Given the description of an element on the screen output the (x, y) to click on. 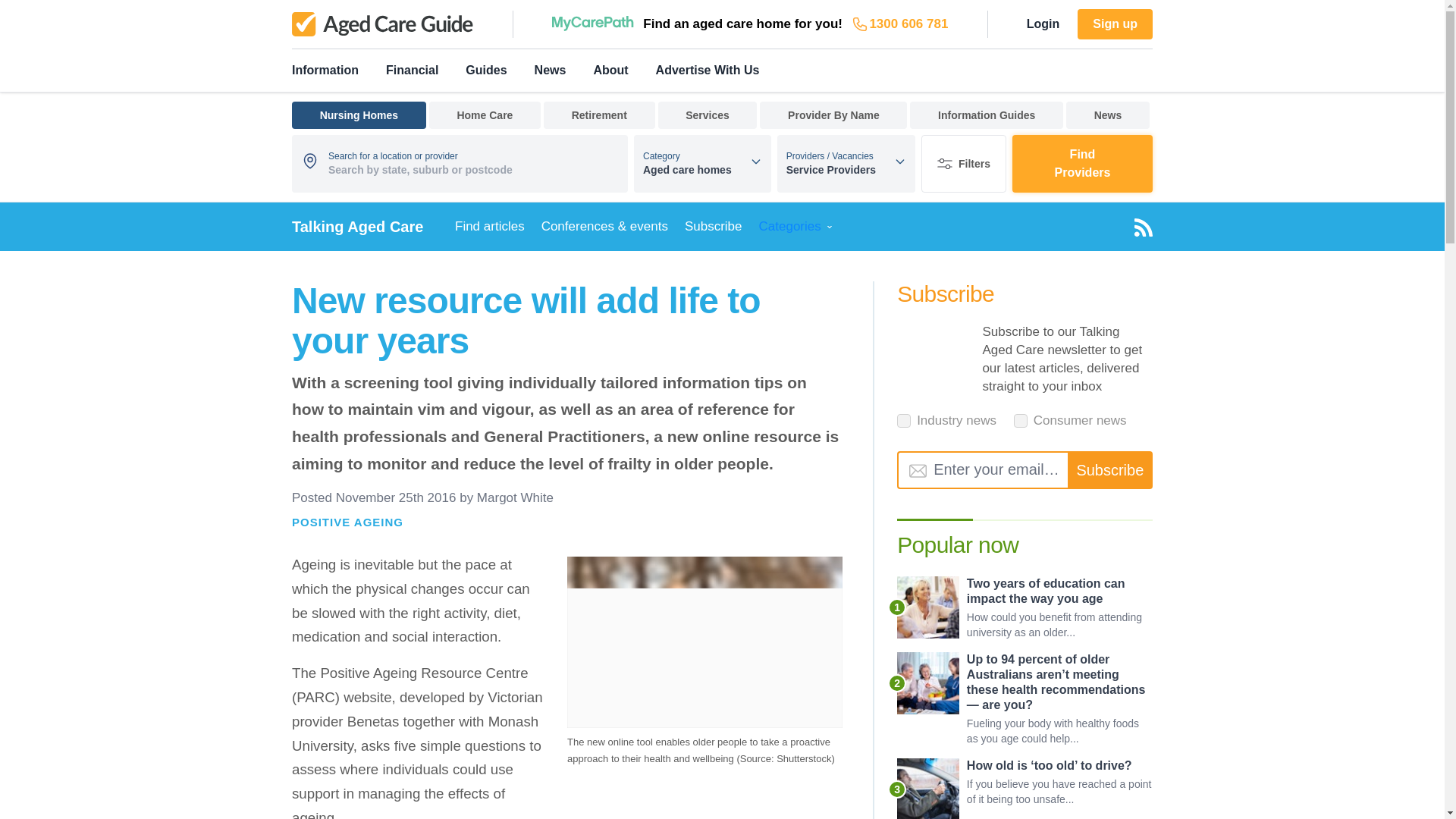
Find articles (491, 226)
Guides (485, 70)
News (550, 70)
Advertise With Us (708, 70)
Categories (793, 226)
Friday, November 25th 2016 (396, 497)
Find an aged care home for you! 1300 606 781 (749, 24)
Talking Aged Care (357, 226)
Sign up (1115, 24)
Financial (411, 70)
Login (1042, 24)
Subscribe (710, 226)
About (609, 70)
Information (325, 70)
Find Providers (1082, 163)
